Given the description of an element on the screen output the (x, y) to click on. 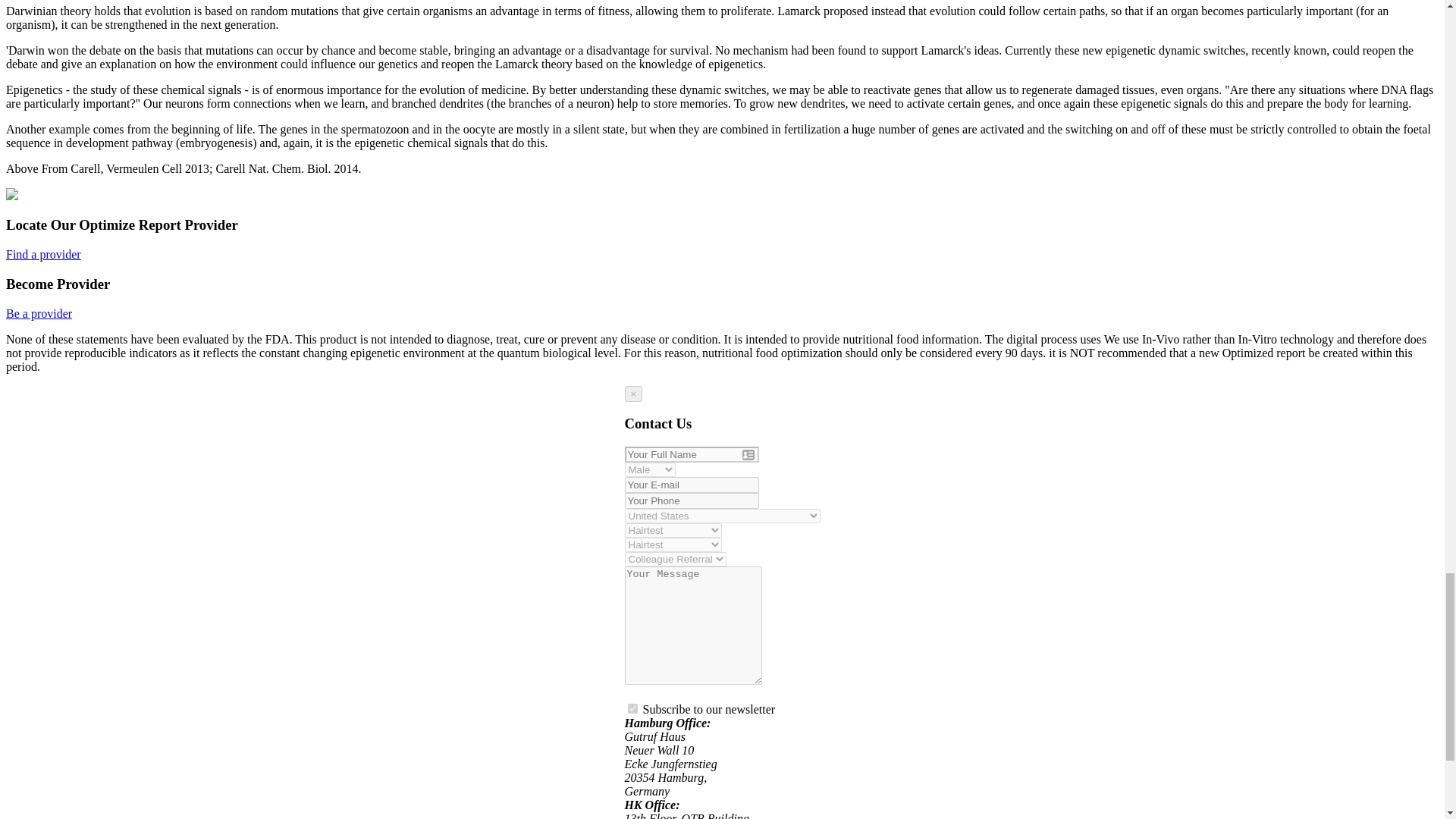
1 (632, 708)
